Given the description of an element on the screen output the (x, y) to click on. 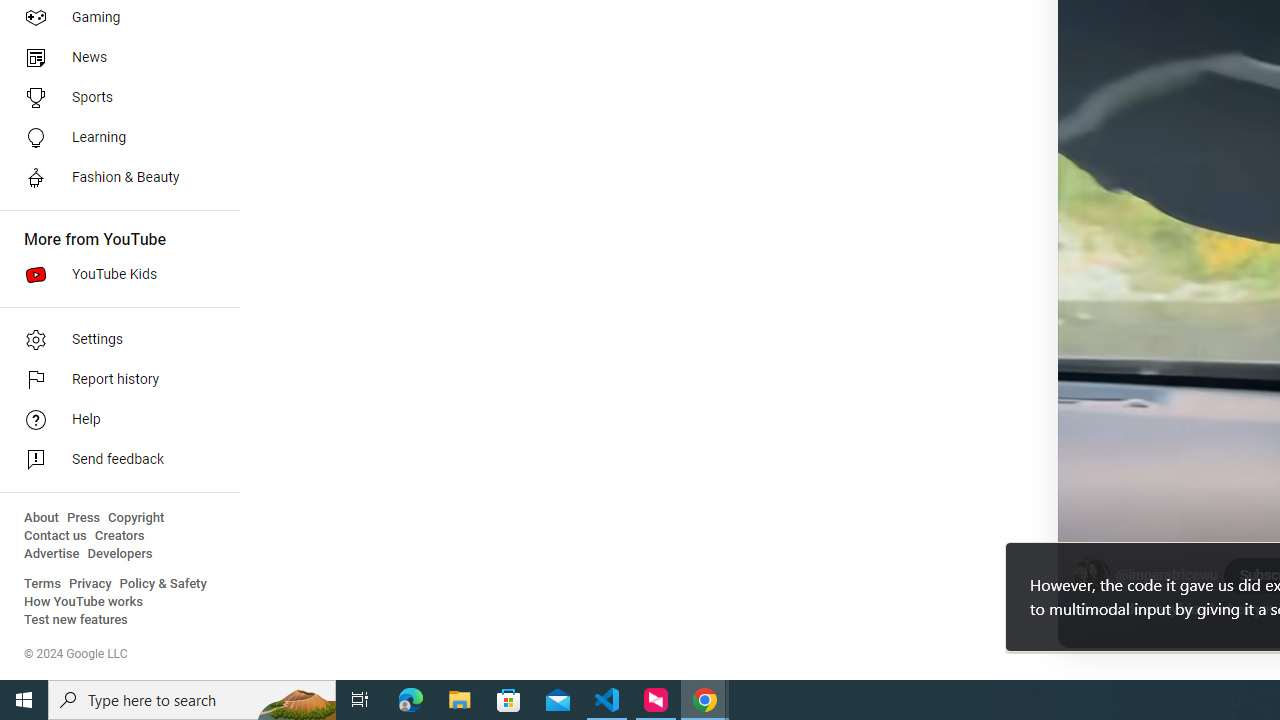
Settings (113, 339)
YouTube Kids (113, 274)
Contact us (55, 536)
Help (113, 419)
Sports (113, 97)
Creators (118, 536)
Report history (113, 380)
Test new features (76, 620)
